Given the description of an element on the screen output the (x, y) to click on. 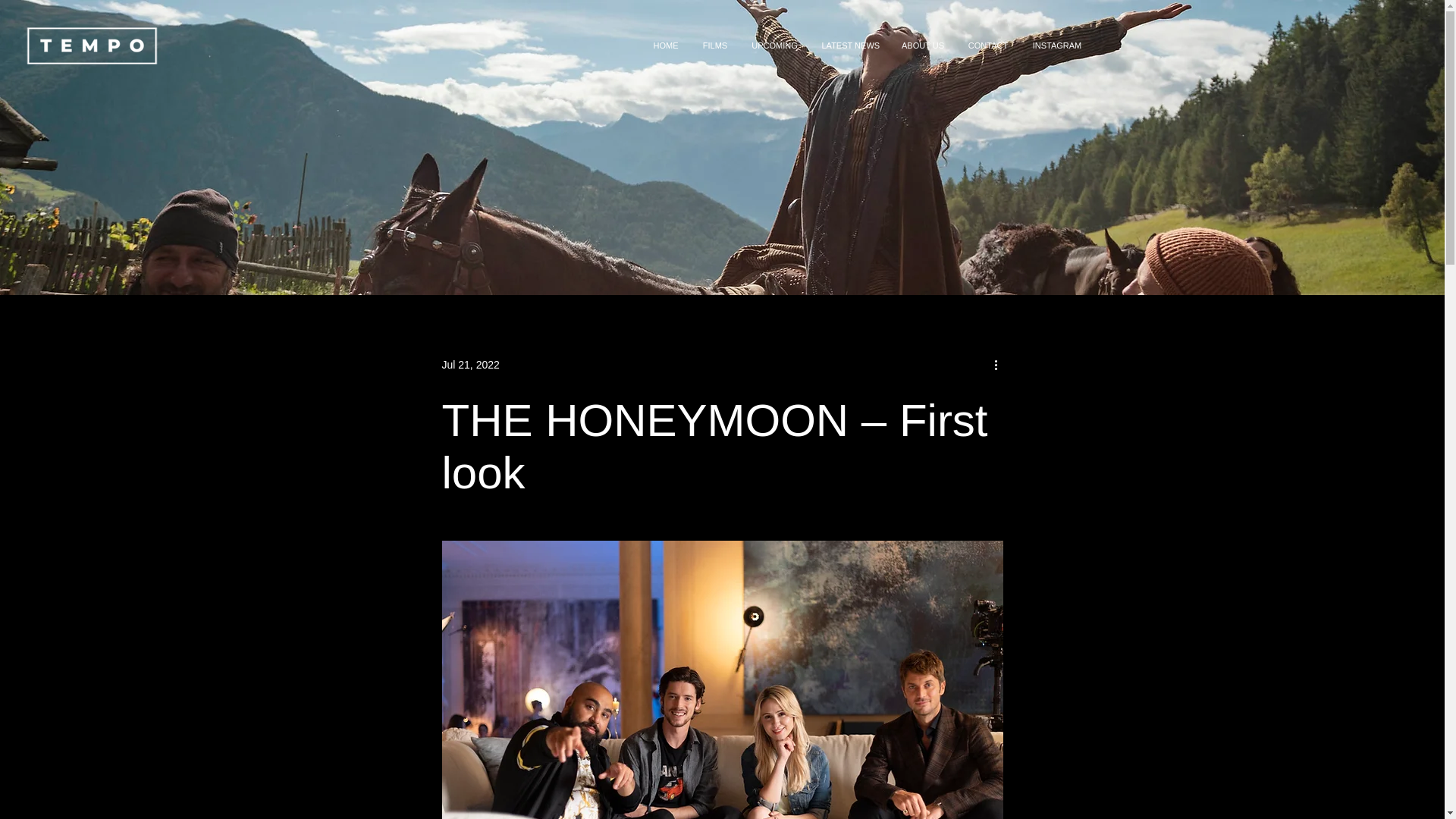
FILMS (715, 45)
Jul 21, 2022 (470, 363)
HOME (665, 45)
